Given the description of an element on the screen output the (x, y) to click on. 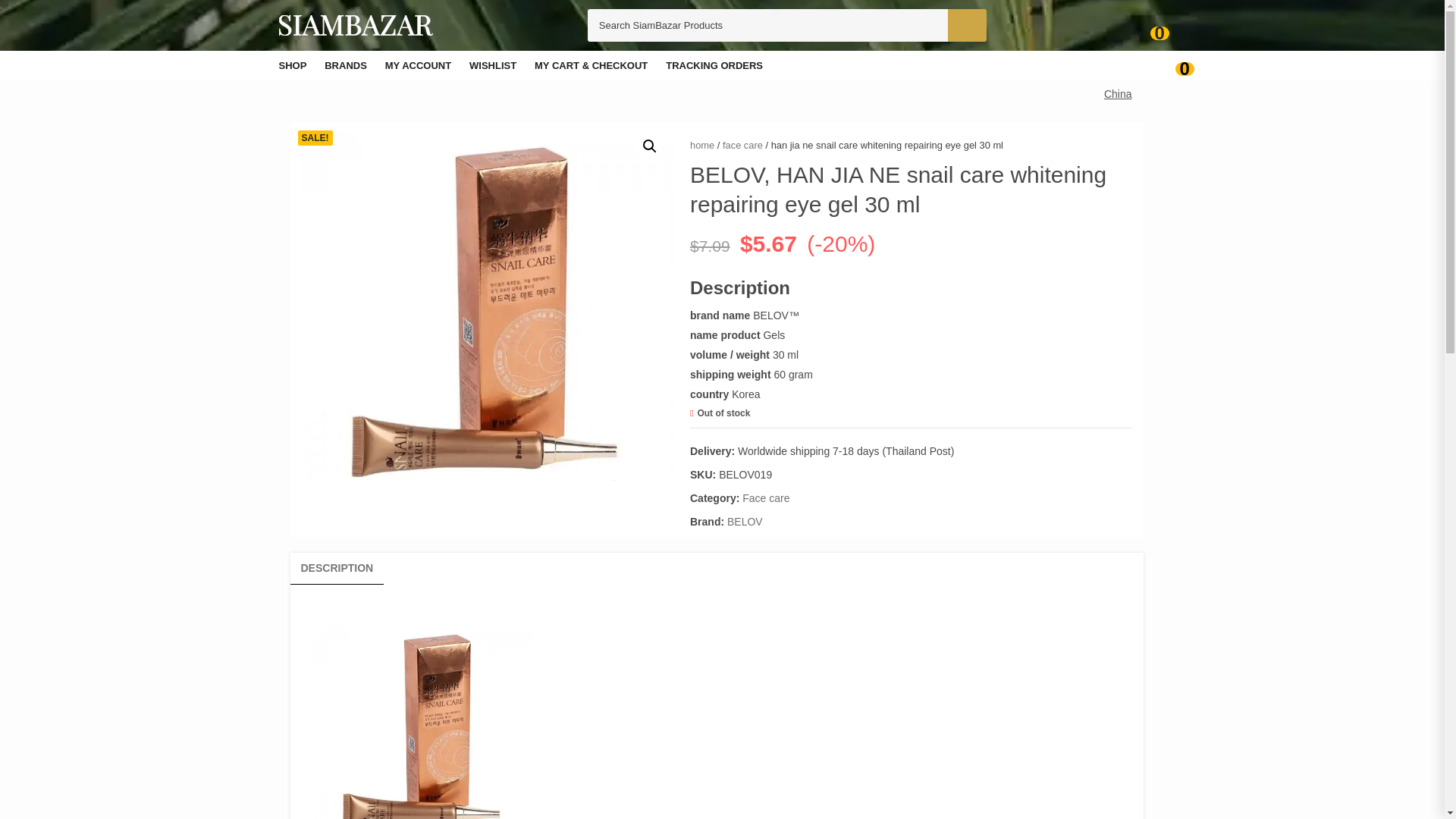
home (702, 144)
MY ACCOUNT (418, 65)
BRANDS (345, 65)
SHOP (293, 65)
DESCRIPTION (335, 567)
WISHLIST (492, 65)
TRACKING ORDERS (713, 65)
Face care (765, 497)
BELOV (744, 521)
face care (742, 144)
